Given the description of an element on the screen output the (x, y) to click on. 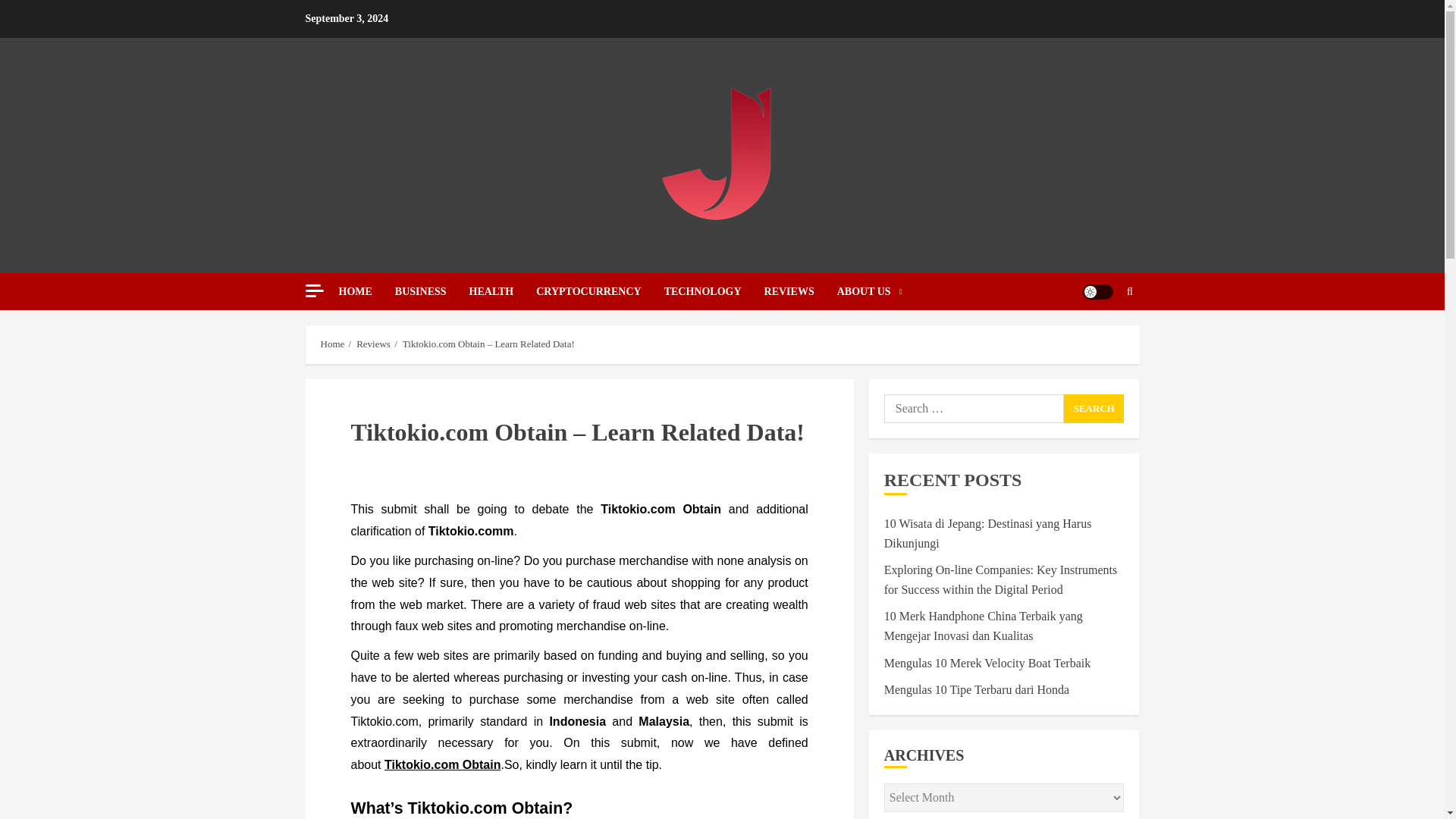
ABOUT US (869, 291)
REVIEWS (800, 291)
Search (1094, 408)
Reviews (373, 344)
TECHNOLOGY (713, 291)
CRYPTOCURRENCY (599, 291)
Search (1099, 337)
Home (331, 344)
HOME (365, 291)
BUSINESS (431, 291)
